Given the description of an element on the screen output the (x, y) to click on. 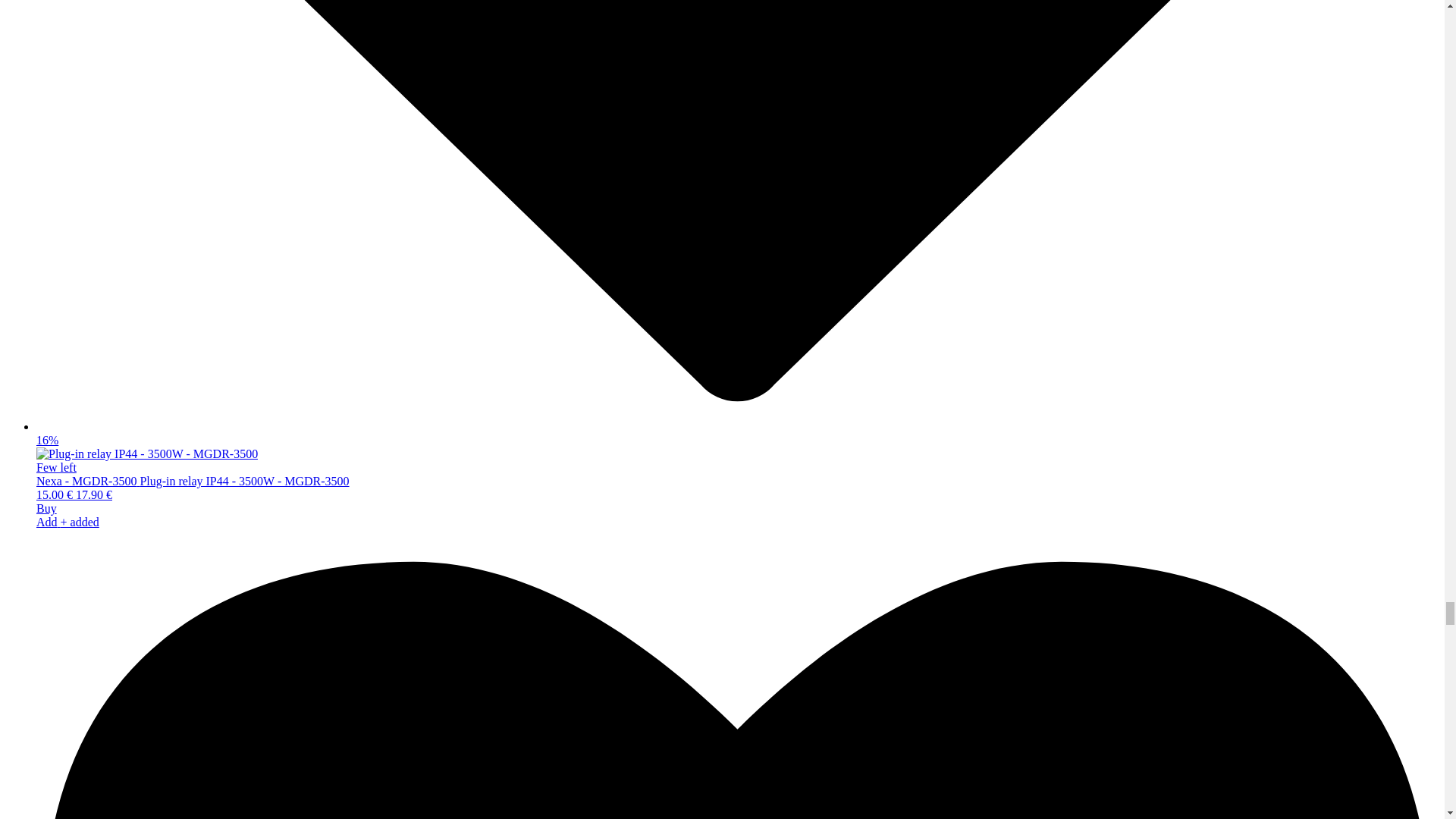
Plug-in relay IP44 - 3500W - MGDR-3500 (146, 454)
